Given the description of an element on the screen output the (x, y) to click on. 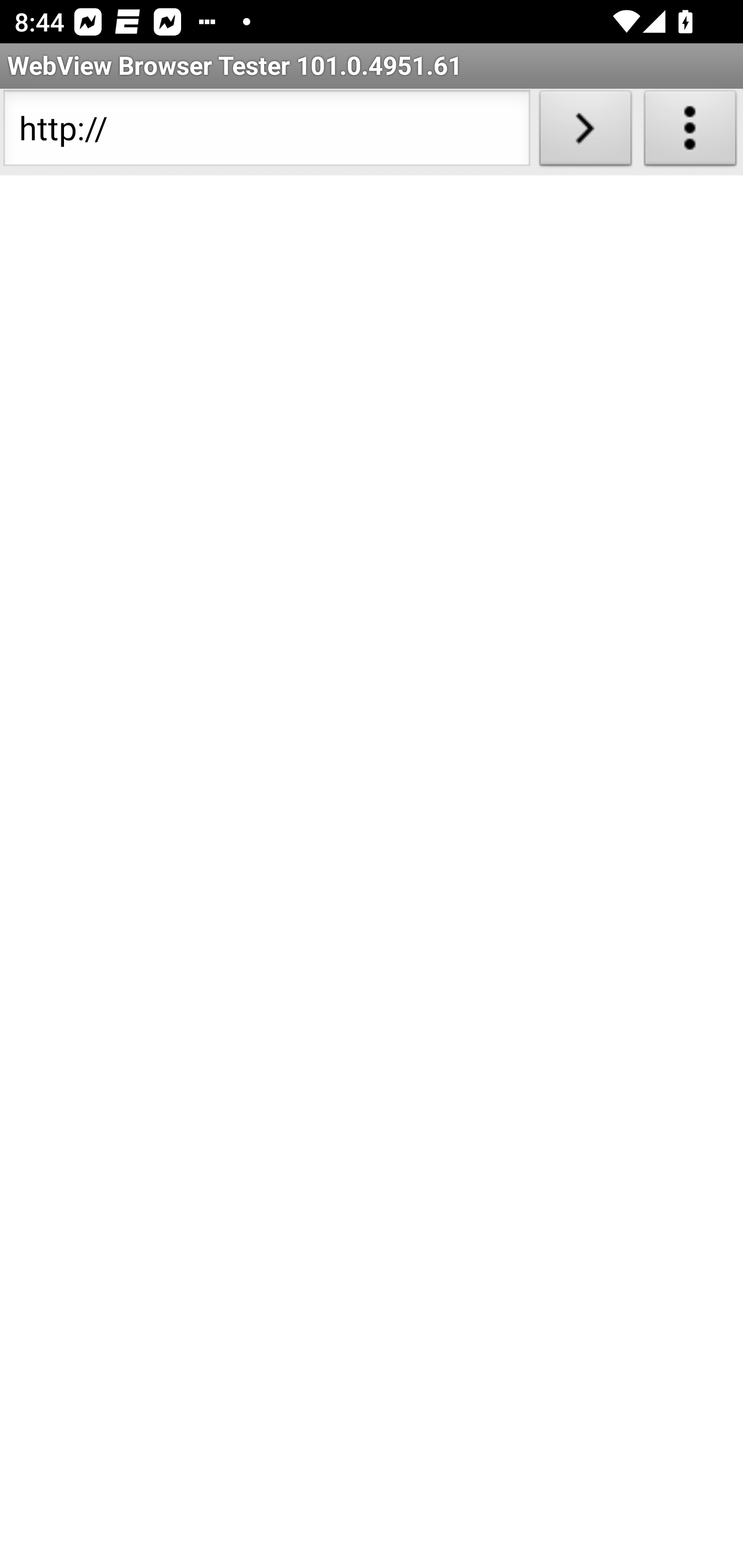
http:// (266, 132)
Load URL (585, 132)
About WebView (690, 132)
